Given the description of an element on the screen output the (x, y) to click on. 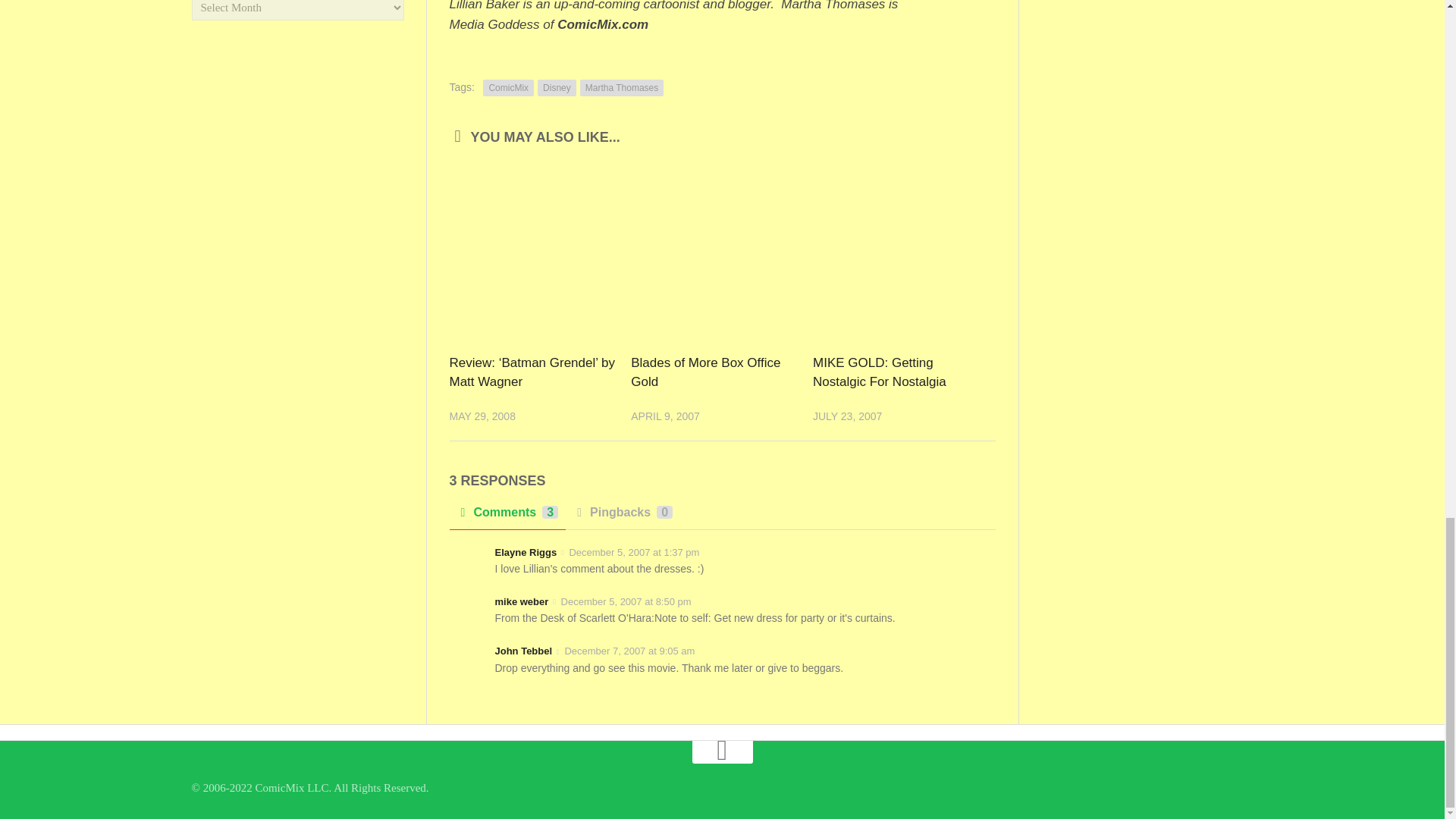
Blades of More Box Office Gold (705, 372)
Martha Thomases (621, 87)
MIKE GOLD: Getting Nostalgic For Nostalgia (879, 372)
Disney (556, 87)
ComicMix (508, 87)
